Given the description of an element on the screen output the (x, y) to click on. 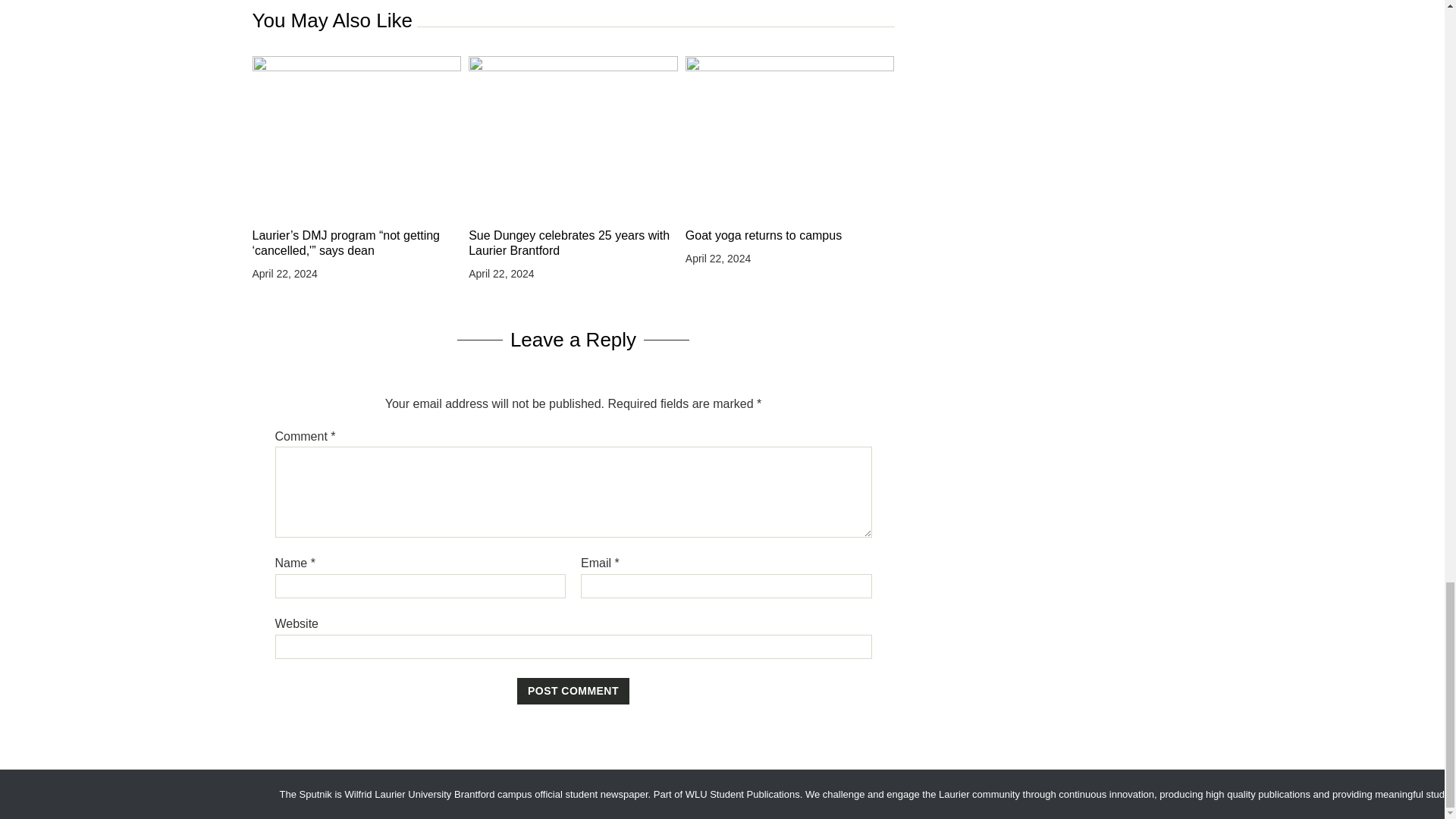
Post Comment (572, 691)
Sue Dungey celebrates 25 years with Laurier Brantford (573, 243)
Post Comment (572, 691)
Goat yoga returns to campus (790, 235)
